Given the description of an element on the screen output the (x, y) to click on. 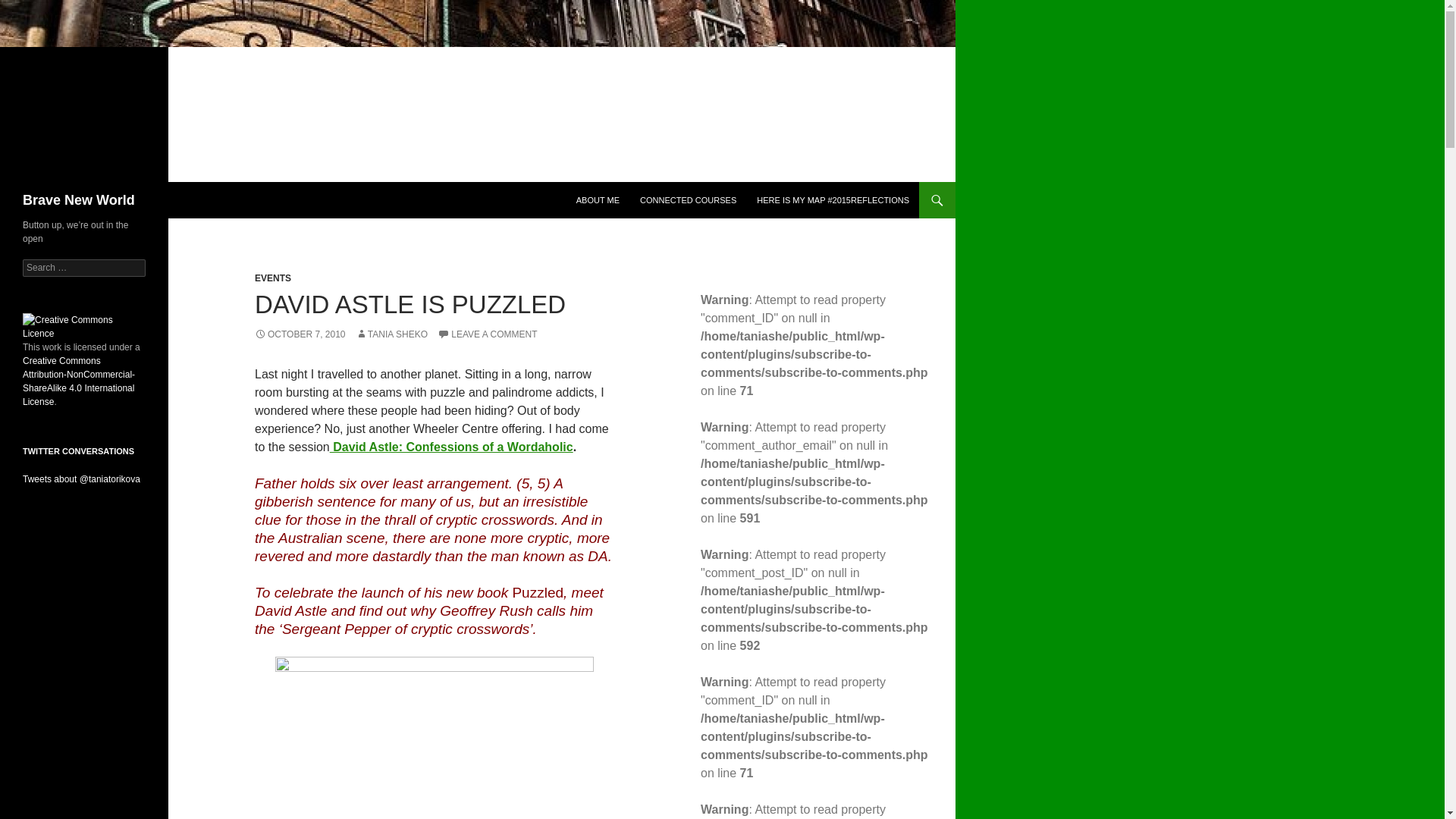
EVENTS (272, 277)
TANIA SHEKO (391, 334)
CONNECTED COURSES (687, 199)
David Astle: Confessions of a Wordaholic (451, 446)
LEAVE A COMMENT (487, 334)
Brave New World (79, 199)
ABOUT ME (597, 199)
OCTOBER 7, 2010 (300, 334)
